Given the description of an element on the screen output the (x, y) to click on. 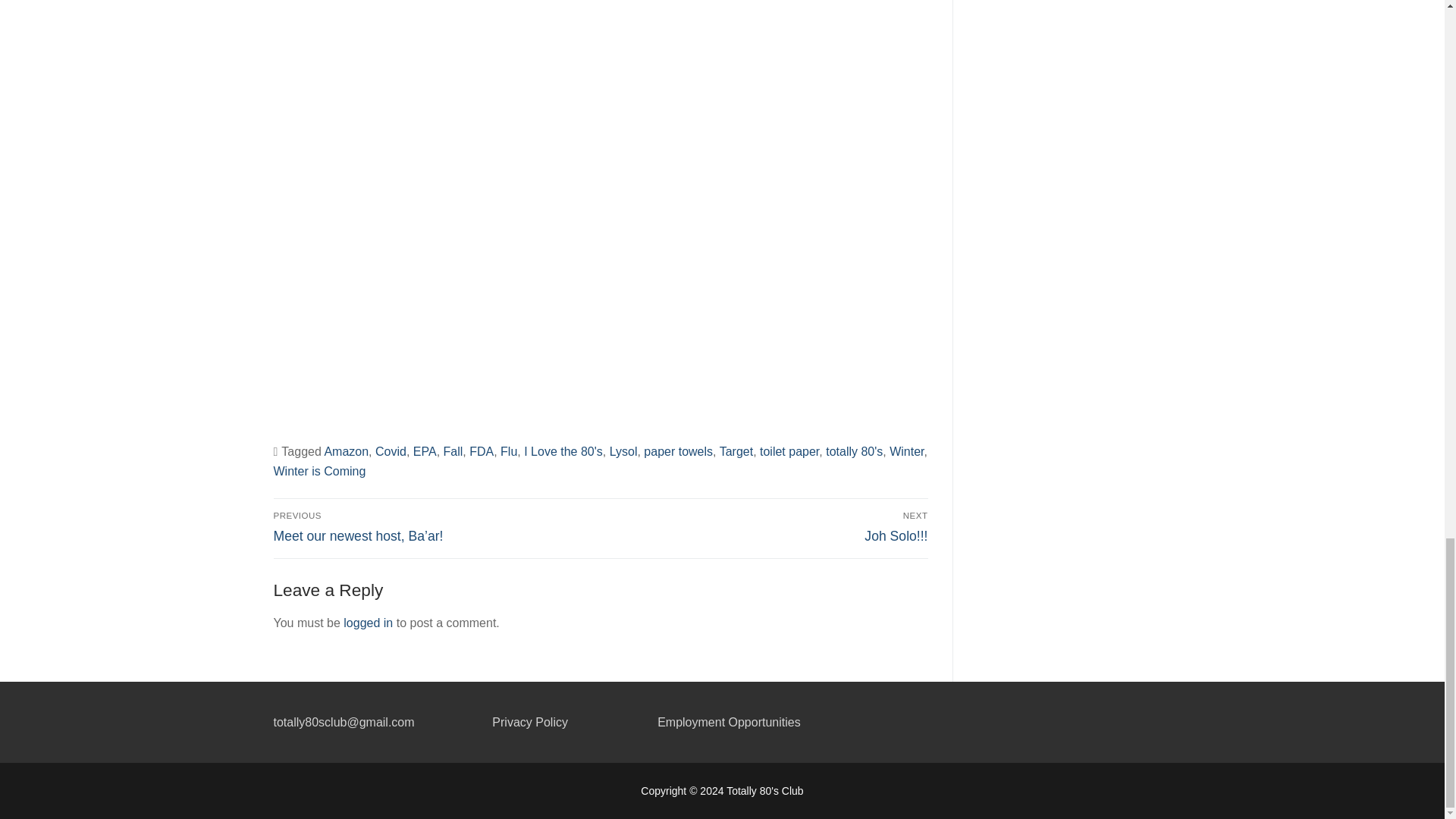
EPA (424, 451)
Covid (390, 451)
Winter is Coming (319, 471)
Lysol (623, 451)
totally 80's (853, 451)
FDA (480, 451)
I Love the 80's (563, 451)
logged in (368, 622)
Flu (508, 451)
paper towels (767, 526)
Winter (678, 451)
toilet paper (906, 451)
Amazon (789, 451)
Target (345, 451)
